Given the description of an element on the screen output the (x, y) to click on. 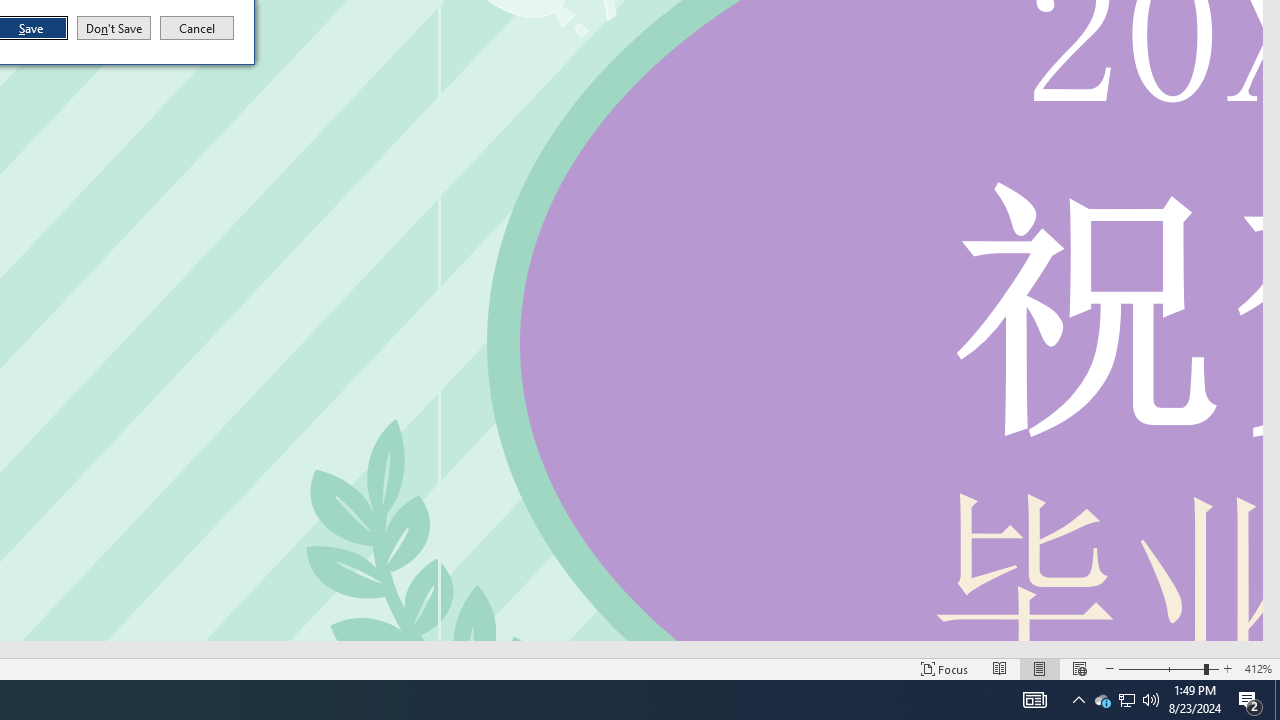
Show desktop (1277, 699)
Action Center, 2 new notifications (1250, 699)
Notification Chevron (1078, 699)
AutomationID: 4105 (1034, 699)
Don't Save (113, 27)
Cancel (1102, 699)
